Given the description of an element on the screen output the (x, y) to click on. 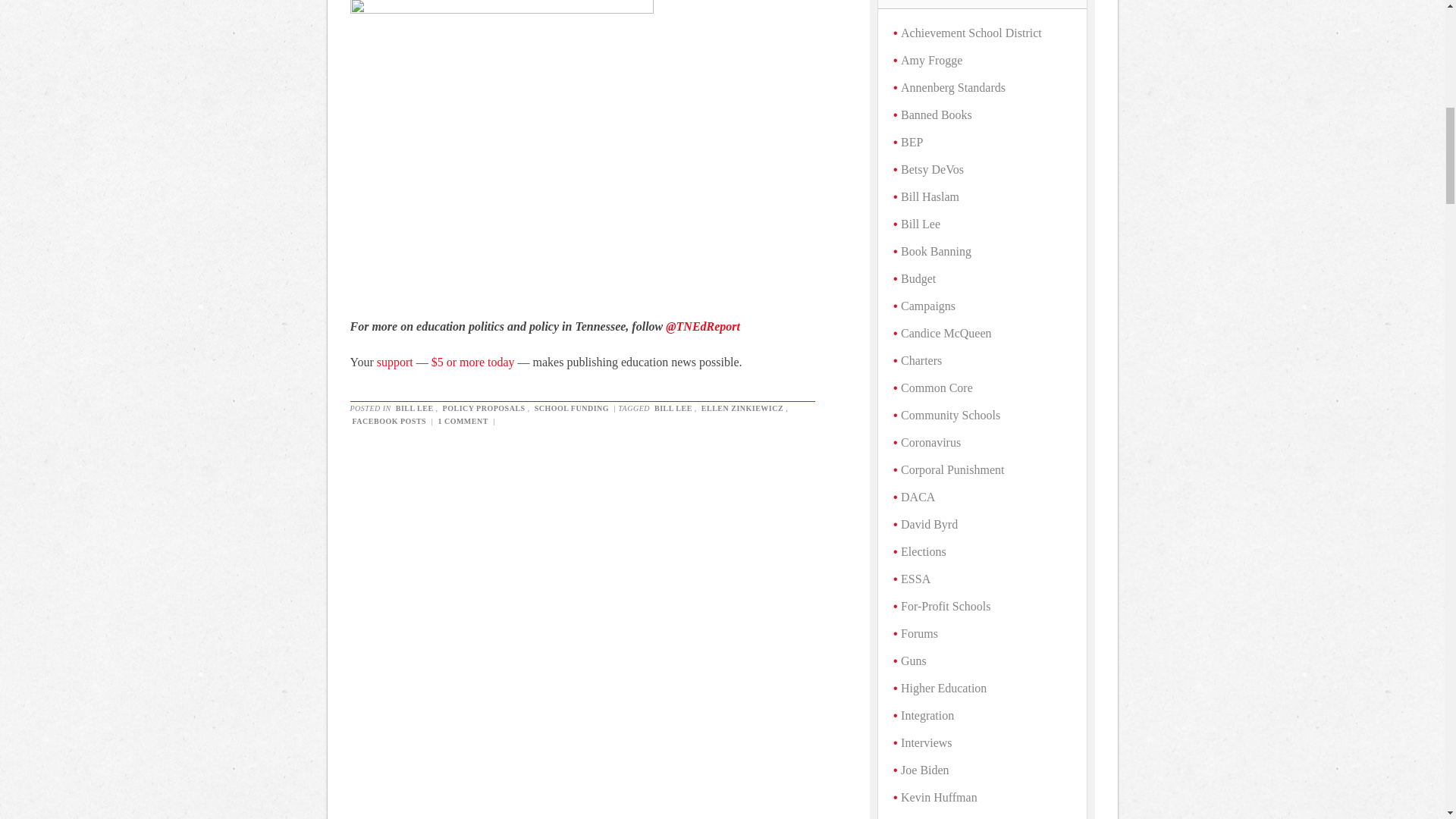
support (395, 361)
Amy Frogge (931, 60)
Banned Books (936, 114)
Bill Haslam (930, 196)
Campaigns (928, 305)
1 COMMENT (462, 420)
BILL LEE (673, 408)
Betsy DeVos (932, 169)
FACEBOOK POSTS (389, 420)
BILL LEE (414, 408)
ELLEN ZINKIEWICZ (742, 408)
Book Banning (936, 250)
BEP (912, 141)
SCHOOL FUNDING (571, 408)
Budget (918, 278)
